Given the description of an element on the screen output the (x, y) to click on. 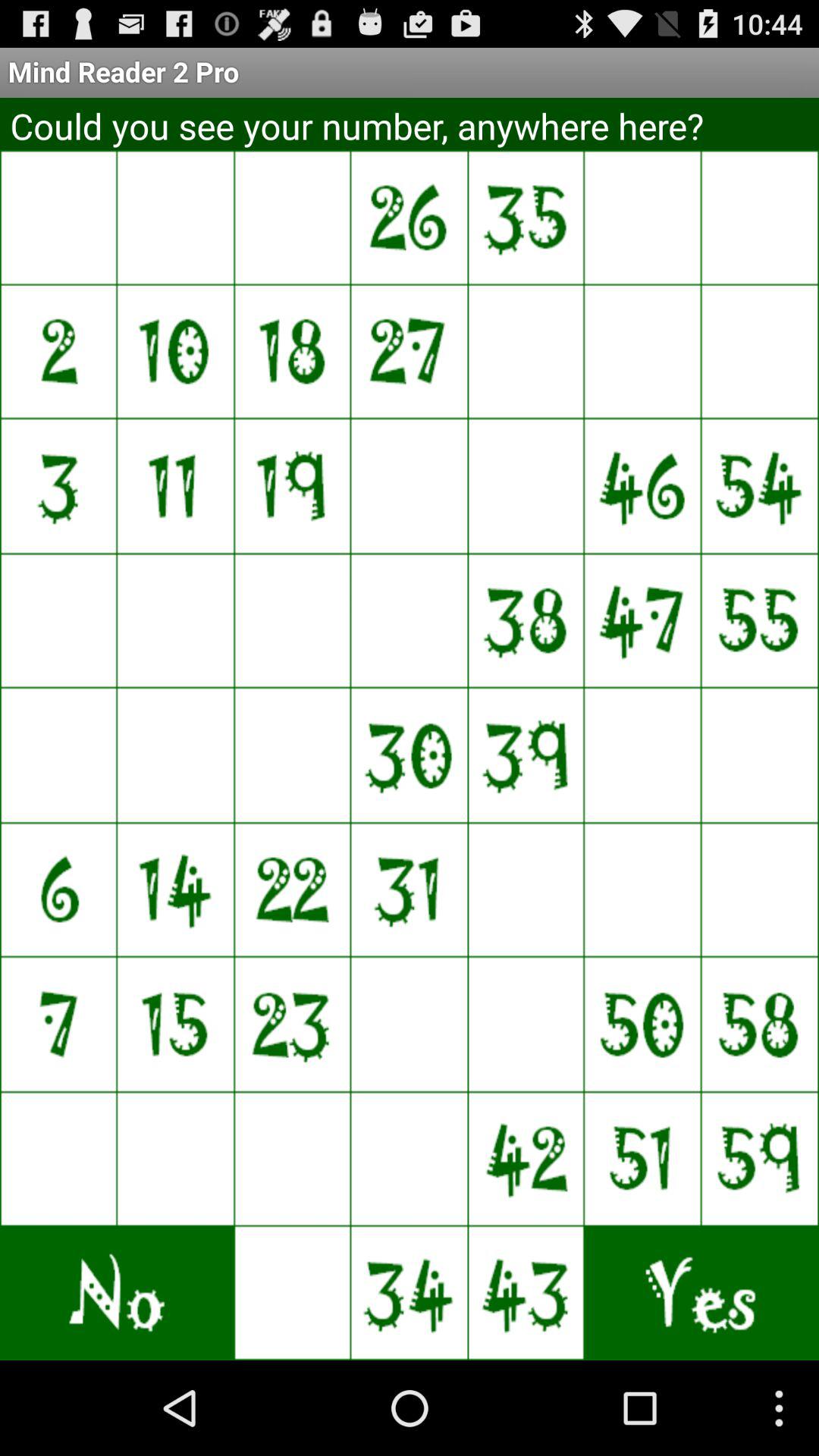
numbers (643, 755)
